Given the description of an element on the screen output the (x, y) to click on. 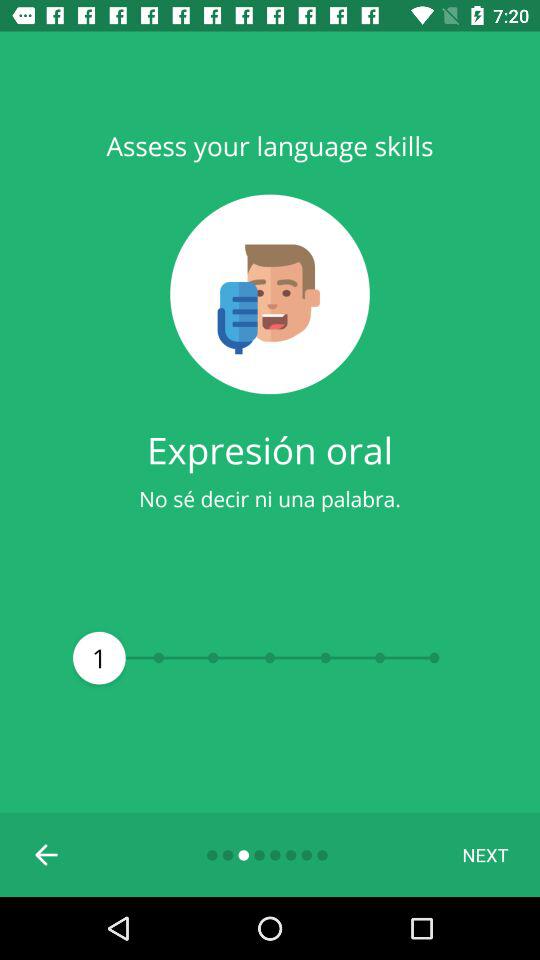
choose the next at the bottom right corner (485, 854)
